Given the description of an element on the screen output the (x, y) to click on. 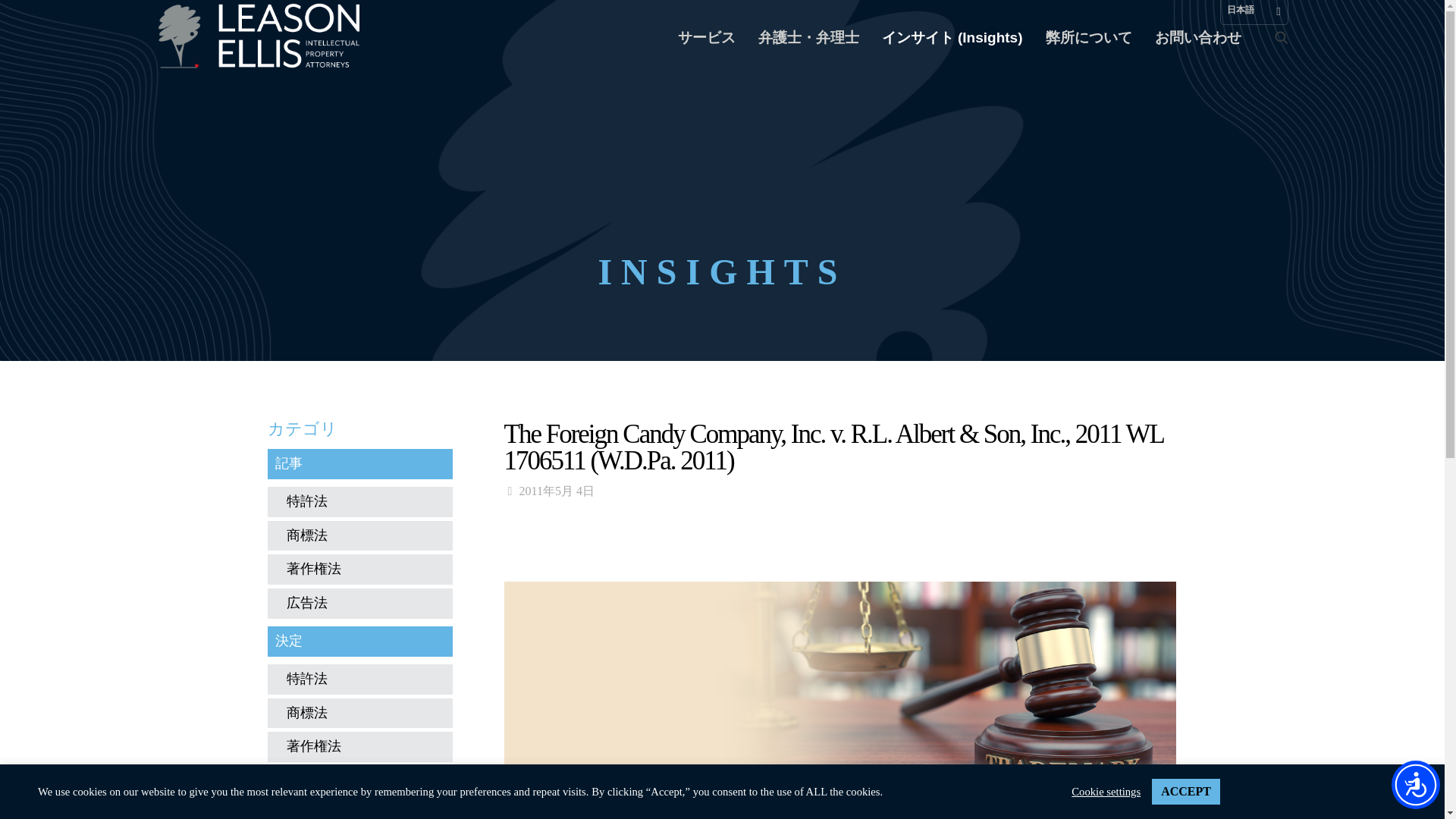
Leason Ellis (261, 38)
